Given the description of an element on the screen output the (x, y) to click on. 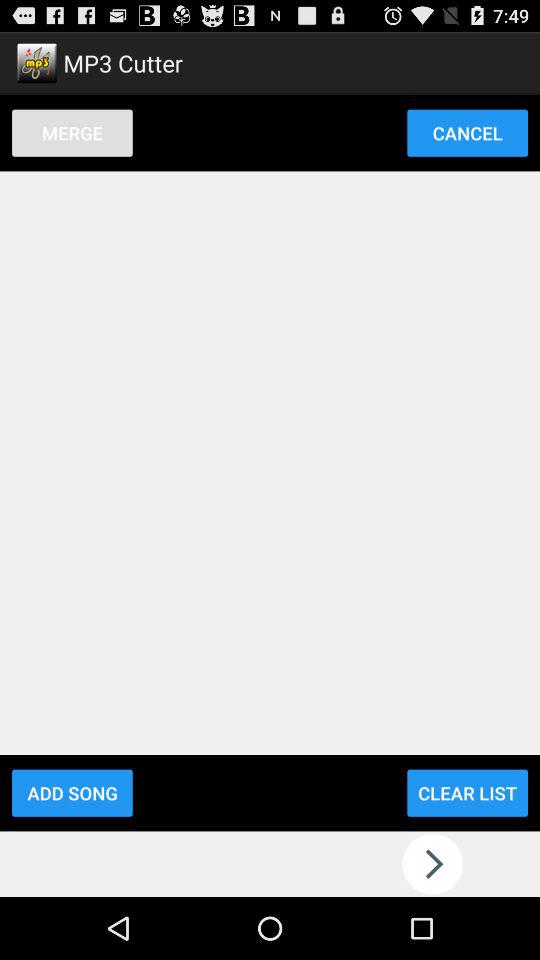
open the button next to add song button (467, 792)
